Given the description of an element on the screen output the (x, y) to click on. 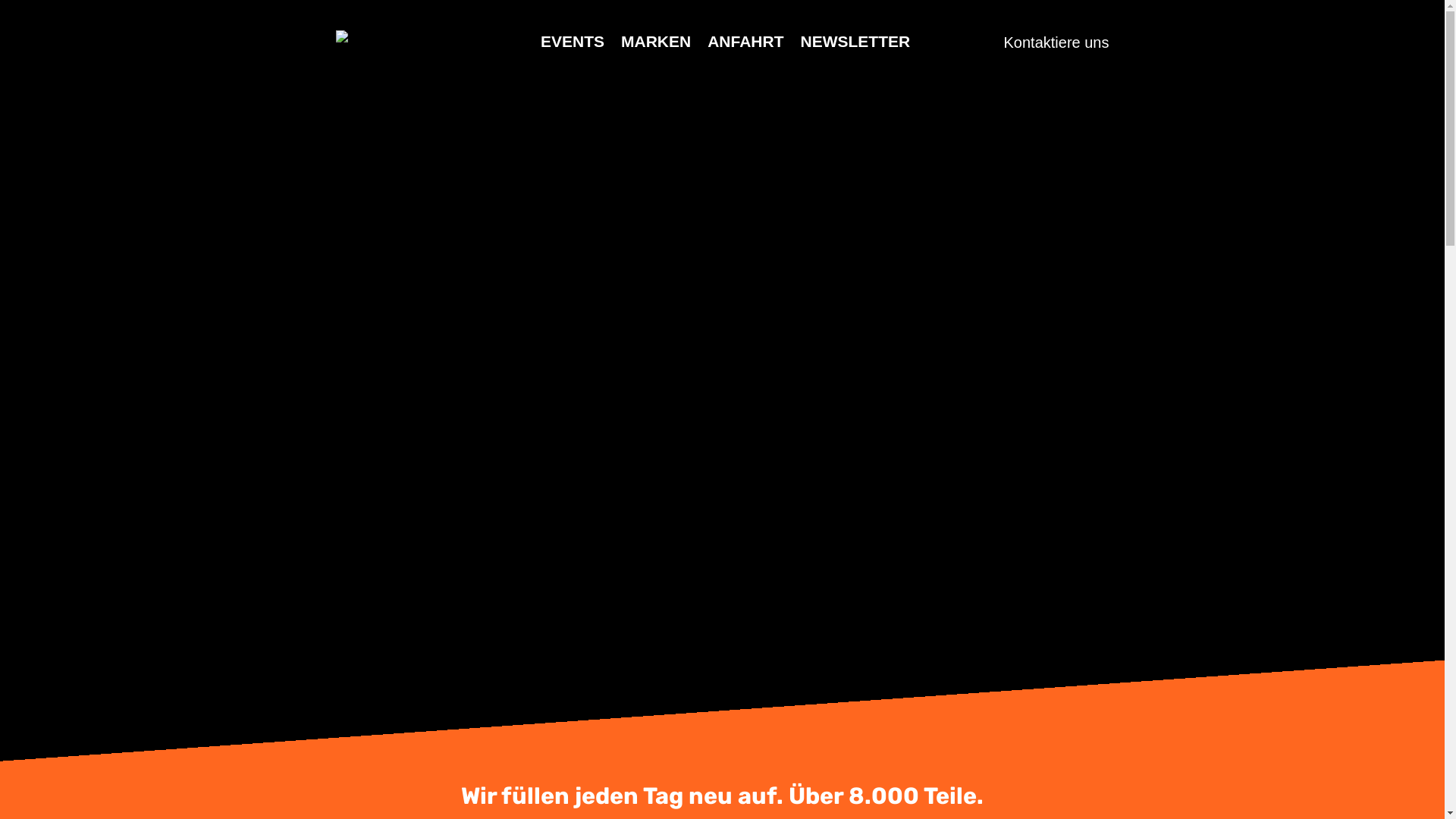
MARKEN Element type: text (655, 52)
ANFAHRT Element type: text (745, 52)
Kontaktiere uns Element type: text (1056, 42)
EVENTS Element type: text (572, 52)
NEWSLETTER Element type: text (855, 52)
